Given the description of an element on the screen output the (x, y) to click on. 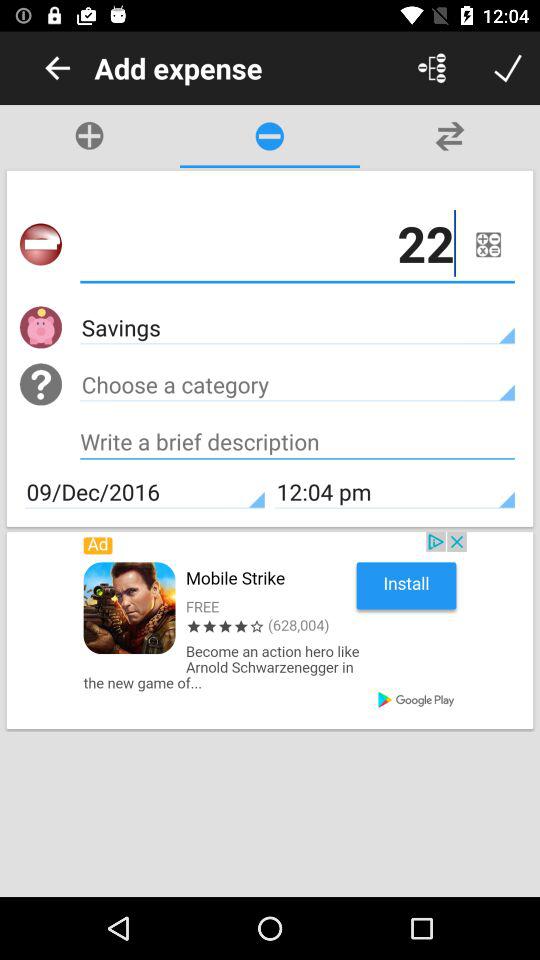
done (508, 67)
